Given the description of an element on the screen output the (x, y) to click on. 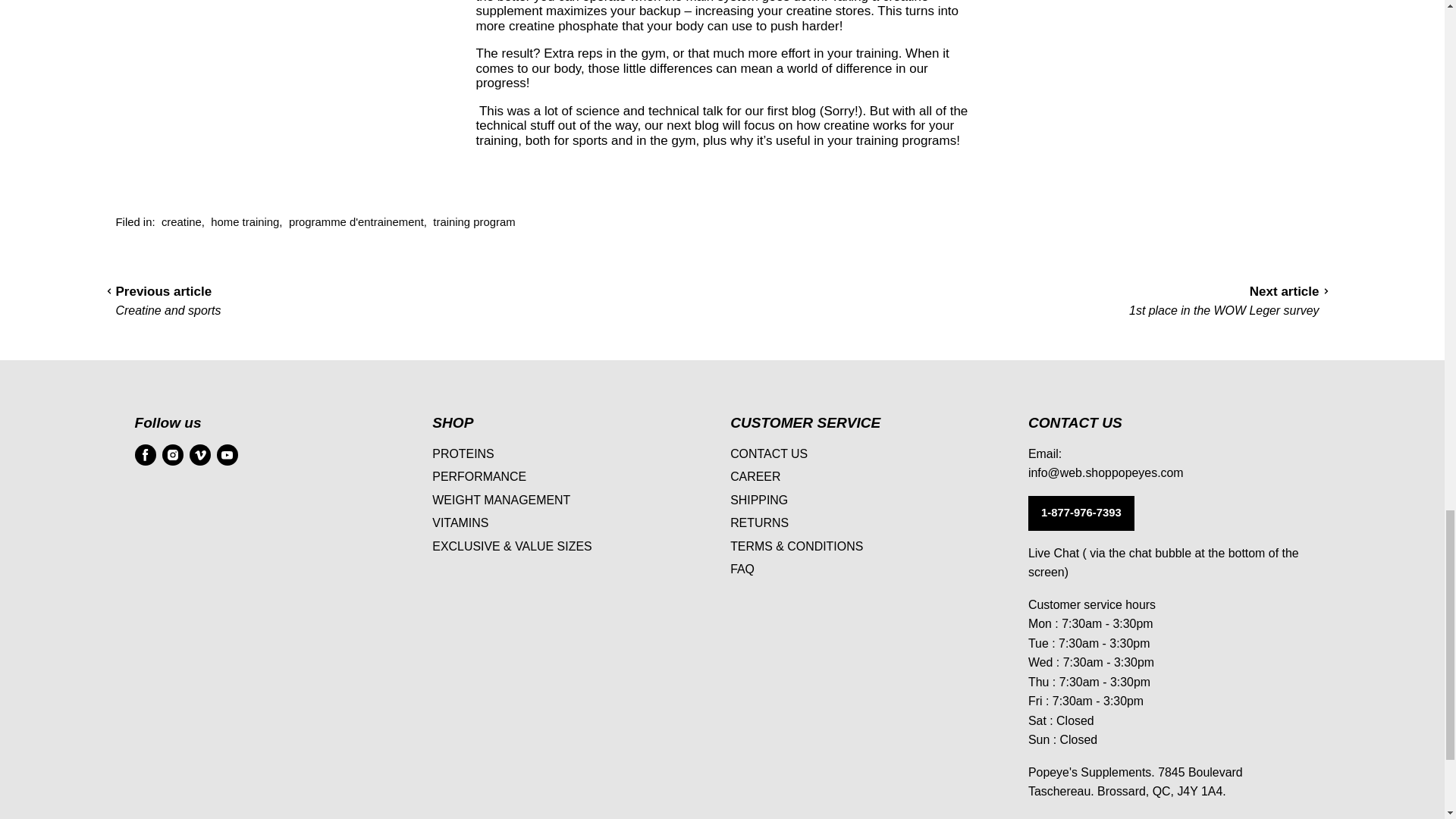
Youtube (227, 454)
Vimeo (200, 454)
Show articles tagged home training (245, 222)
Show articles tagged creatine (181, 222)
Show articles tagged programme d'entrainement (355, 222)
Show articles tagged training program (473, 222)
Instagram (172, 454)
Facebook (145, 454)
